Given the description of an element on the screen output the (x, y) to click on. 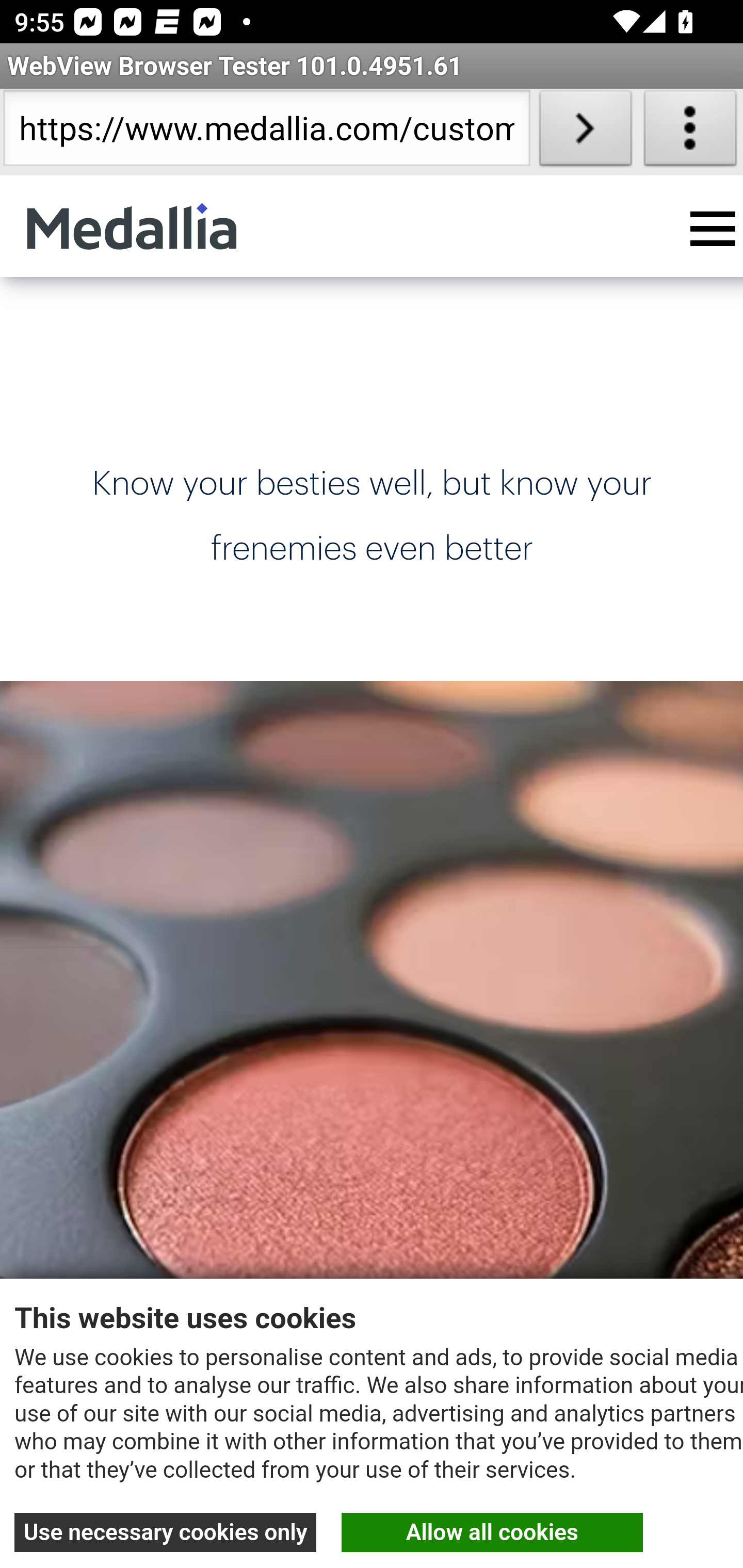
Load URL (585, 132)
About WebView (690, 132)
Medallia (131, 226)
Use necessary cookies only (166, 1531)
Allow all cookies (491, 1531)
